Given the description of an element on the screen output the (x, y) to click on. 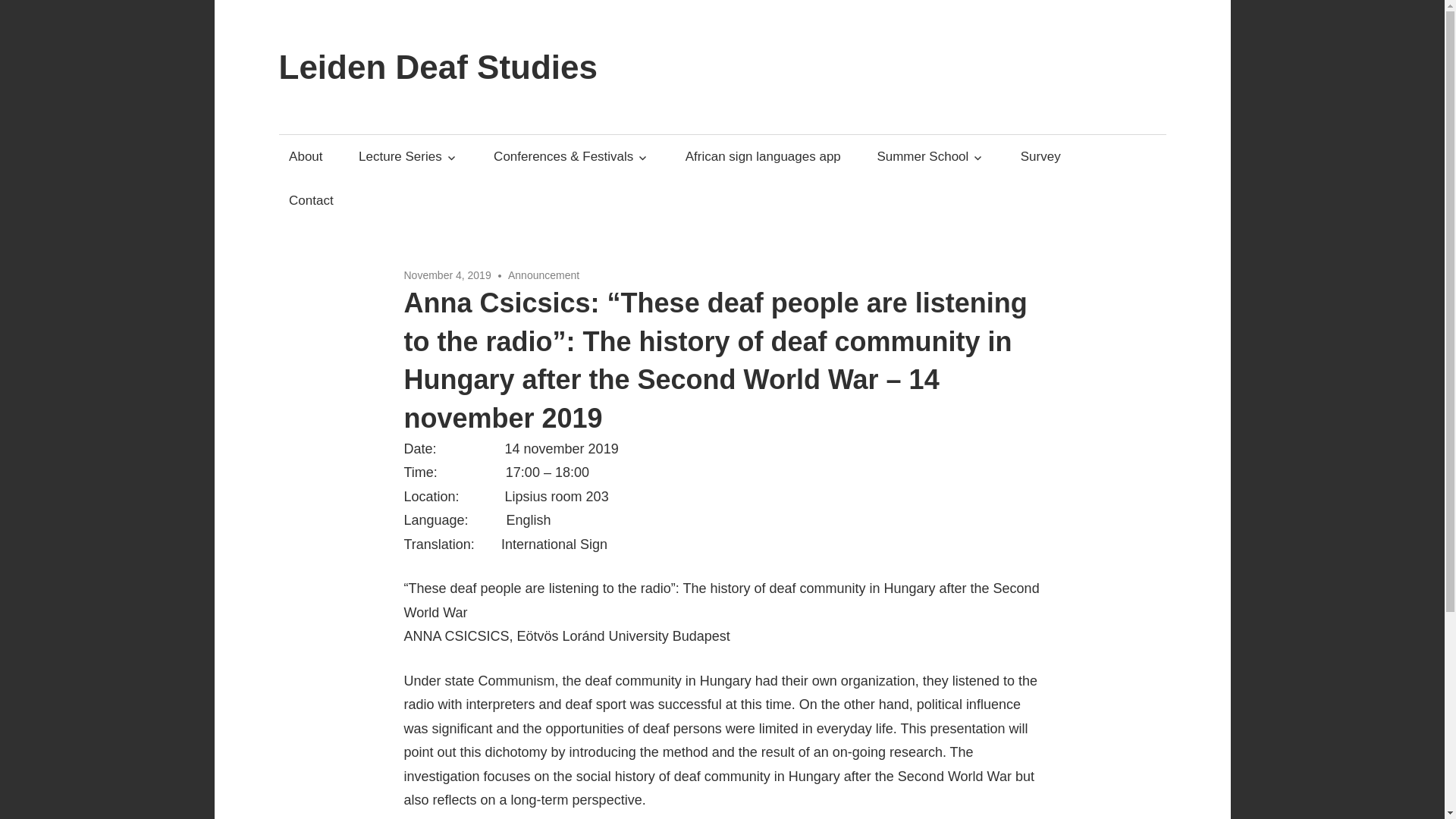
November 4, 2019 (446, 275)
About (306, 156)
Leiden Deaf Studies (438, 66)
Contact (311, 199)
3:01 PM (446, 275)
Announcement (543, 275)
Summer School (930, 156)
African sign languages app (762, 156)
Survey (1040, 156)
Lecture Series (408, 156)
